Given the description of an element on the screen output the (x, y) to click on. 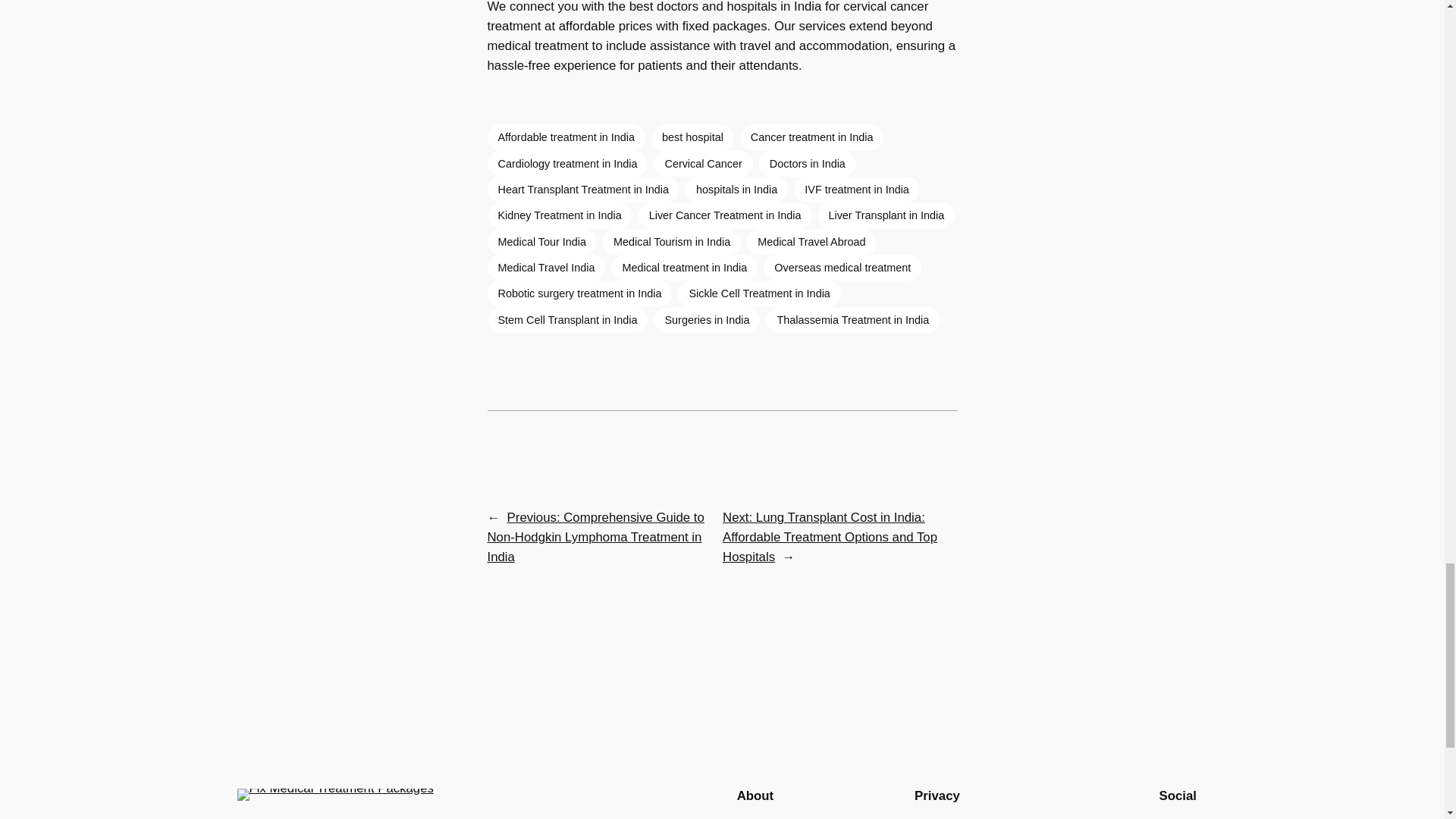
Liver Cancer Treatment in India (725, 215)
hospitals in India (736, 189)
Medical Travel Abroad (811, 241)
Robotic surgery treatment in India (578, 293)
Doctors in India (807, 163)
best hospital (691, 136)
Cardiology treatment in India (566, 163)
Cervical Cancer (702, 163)
Medical Travel India (545, 267)
Kidney Treatment in India (558, 215)
